Given the description of an element on the screen output the (x, y) to click on. 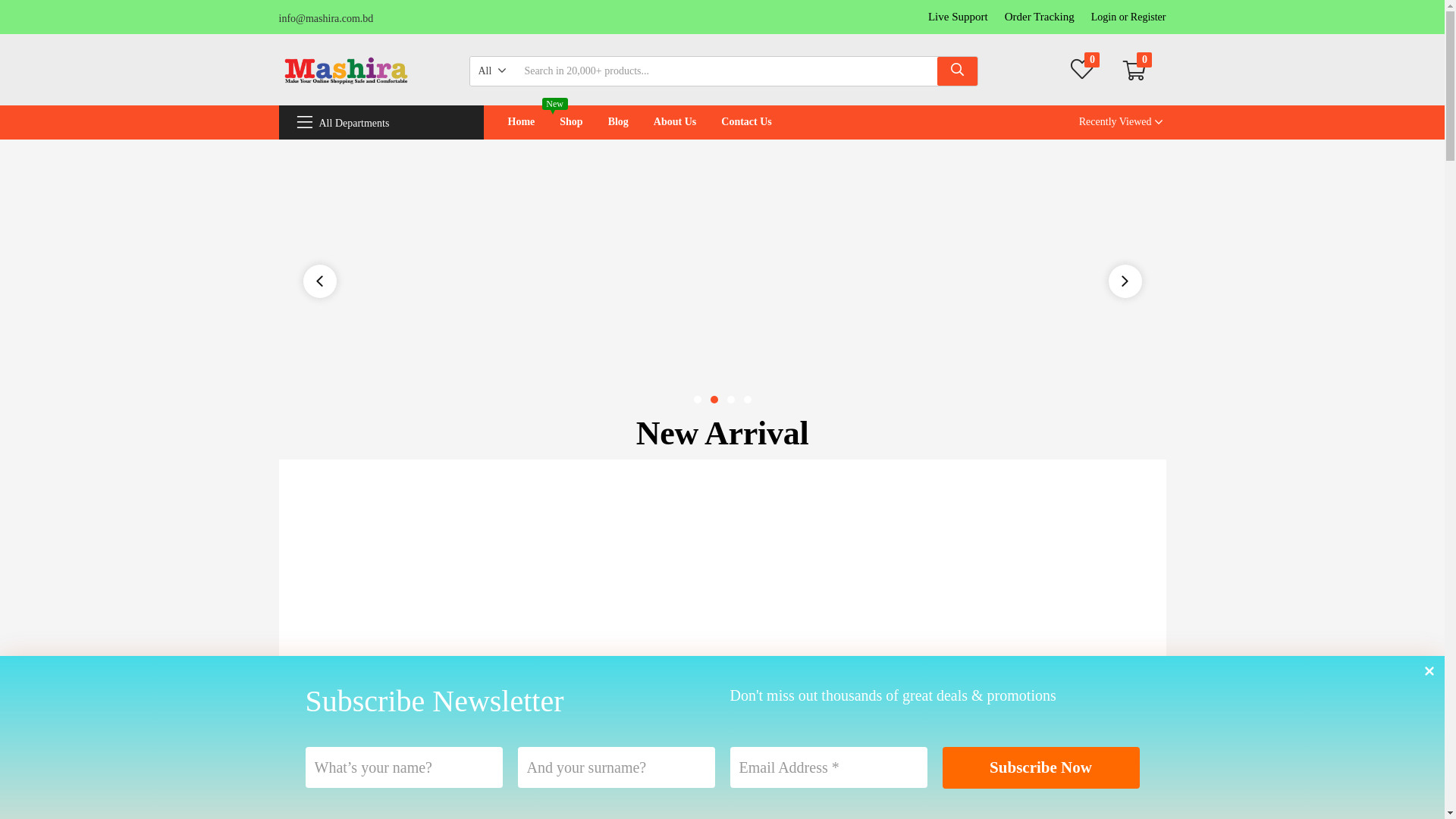
Login or Register Element type: text (1128, 17)
Contact Us Element type: text (746, 121)
And your surname? Element type: hover (615, 766)
Home Element type: text (521, 121)
About Us Element type: text (674, 121)
Subscribe Now Element type: text (1040, 767)
New
Shop Element type: text (570, 121)
Email Address Element type: hover (827, 766)
0 Element type: text (1081, 70)
All Departments Element type: text (342, 122)
Blog Element type: text (618, 121)
info@mashira.com.bd Element type: text (326, 18)
Live Support Element type: text (958, 16)
0 Element type: text (1134, 70)
Order Tracking Element type: text (1039, 16)
